Given the description of an element on the screen output the (x, y) to click on. 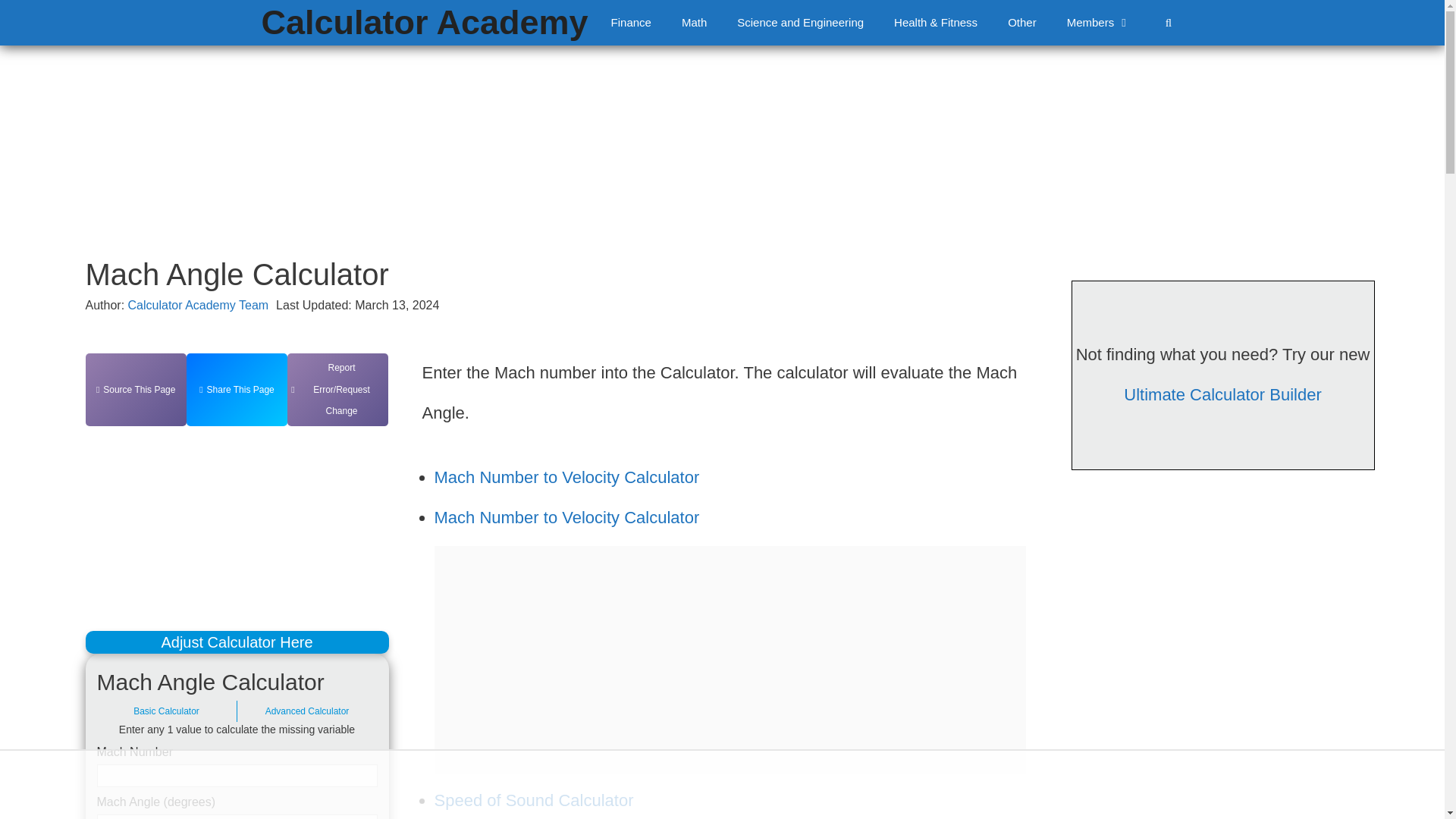
Mach Number to Velocity Calculator (565, 517)
Mach Number to Velocity Calculator (565, 476)
Ultimate Calculator Builder (1222, 394)
Speed of Sound Calculator (533, 800)
Math (694, 22)
Science and Engineering (800, 22)
Members (1099, 22)
Calculator Academy (425, 22)
Finance (630, 22)
Calculator Academy Team (198, 305)
